Given the description of an element on the screen output the (x, y) to click on. 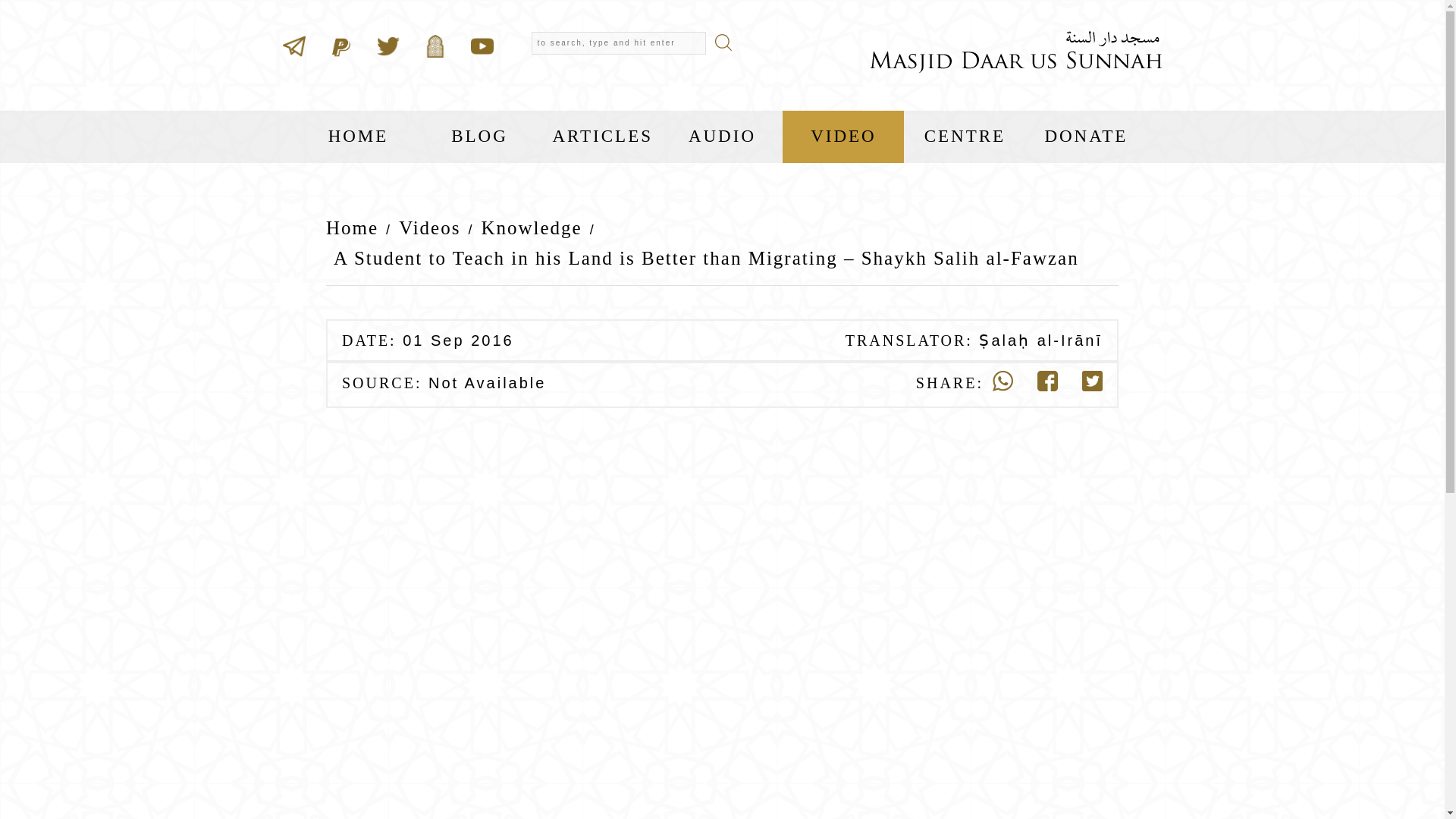
Go to the Knowledge Video Category archives. (531, 227)
Go to Masjid Daar us Sunnah. (355, 227)
ARTICLES (600, 136)
Go to Videos. (429, 227)
HOME (358, 136)
BLOG (479, 136)
